Given the description of an element on the screen output the (x, y) to click on. 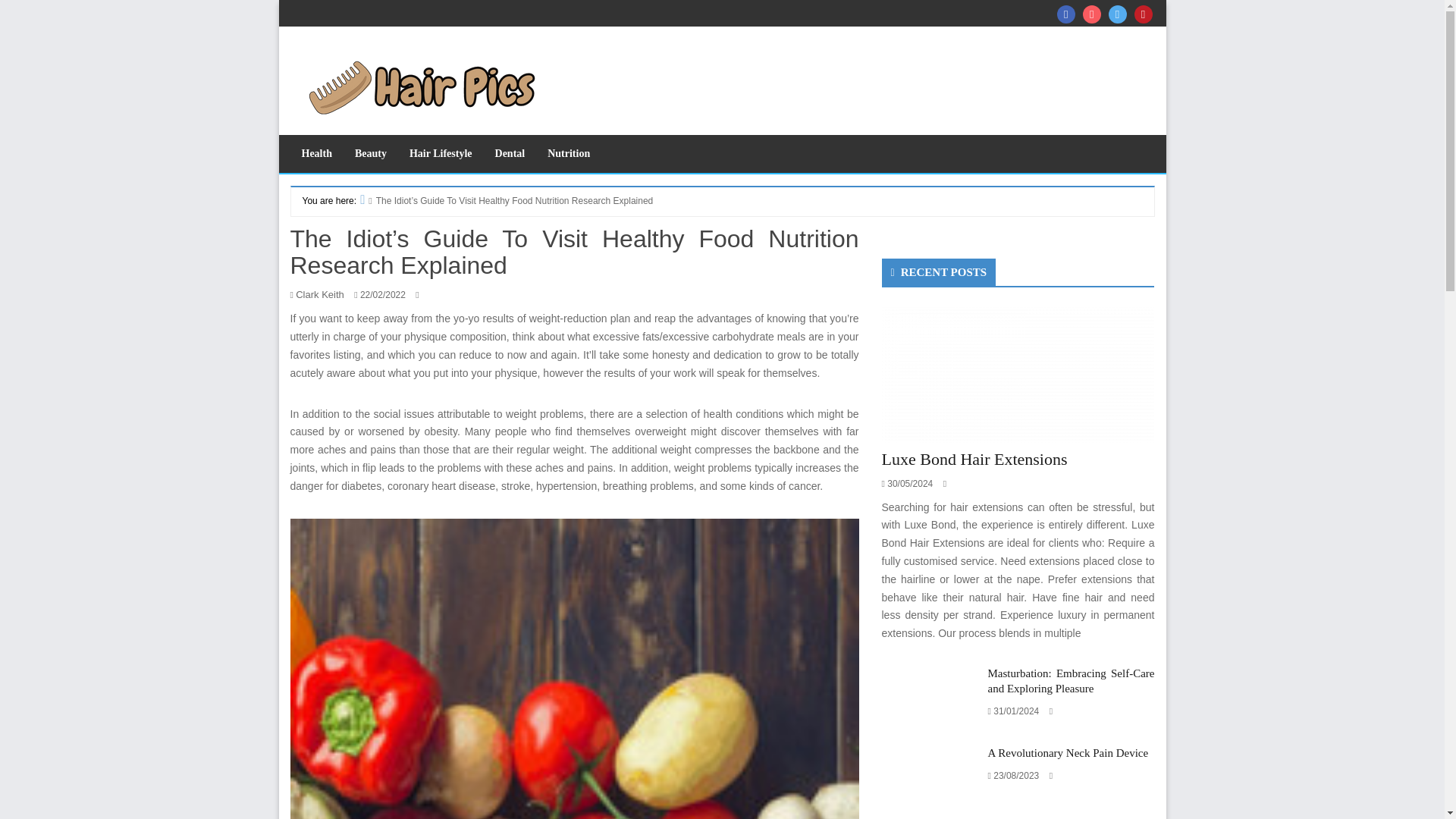
Hair Lifestyle (440, 153)
Masturbation: Embracing Self-Care and Exploring Pleasure (929, 698)
Dental (510, 153)
Tuesday, February 22, 2022, 1:55 pm (382, 294)
Facebook (1066, 13)
Masturbation: Embracing Self-Care and Exploring Pleasure (929, 699)
A Revolutionary Neck Pain Device (1067, 752)
Nutrition (568, 153)
Luxe Bond Hair Extensions (1017, 373)
Instagram (1091, 13)
Luxe Bond Hair Extensions (973, 458)
Luxe Bond Hair Extensions (1017, 374)
Beauty (370, 153)
Luxe Bond Hair Extensions (973, 458)
